Given the description of an element on the screen output the (x, y) to click on. 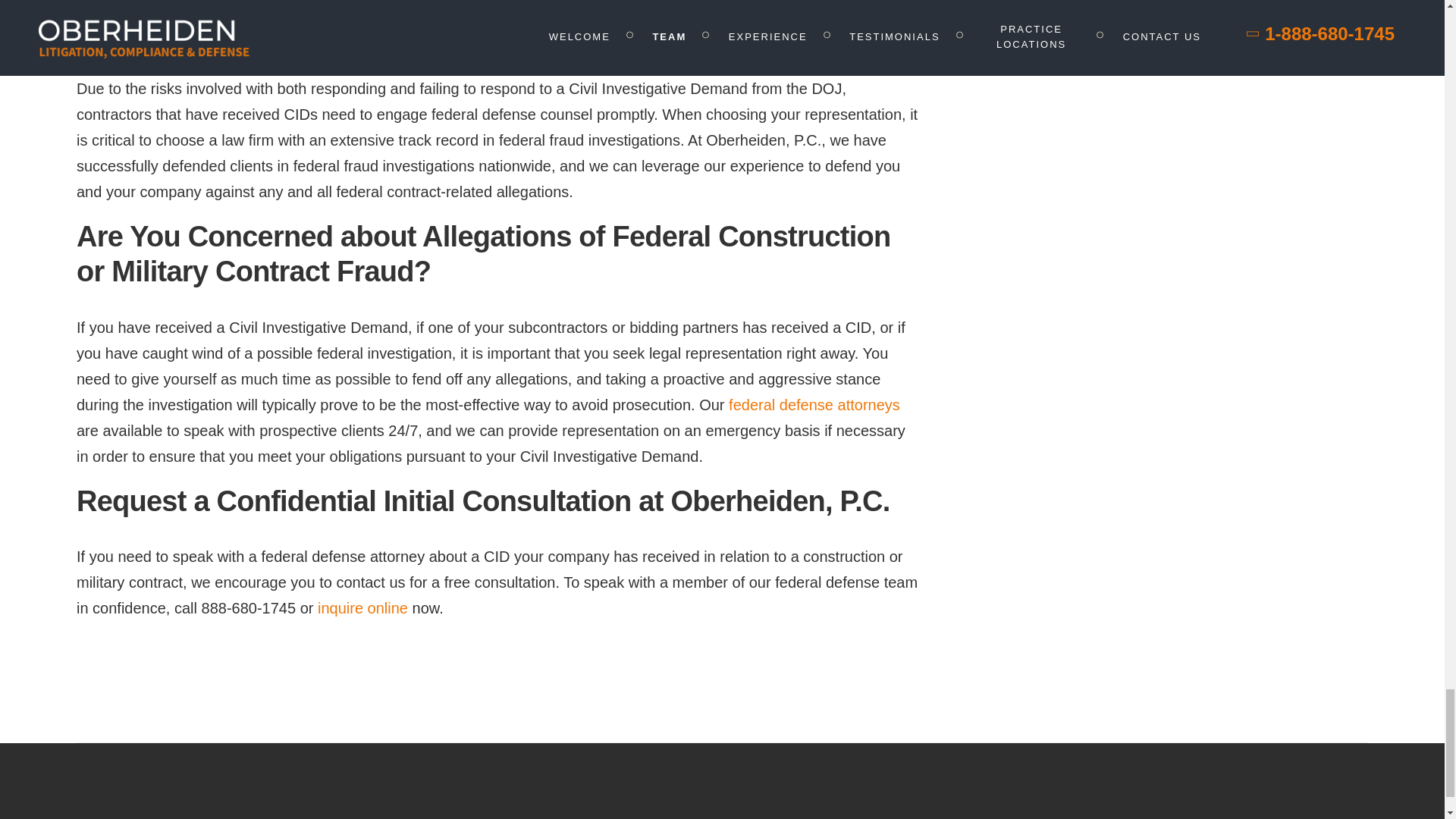
inquire online (362, 607)
federal defense attorneys (814, 404)
